Given the description of an element on the screen output the (x, y) to click on. 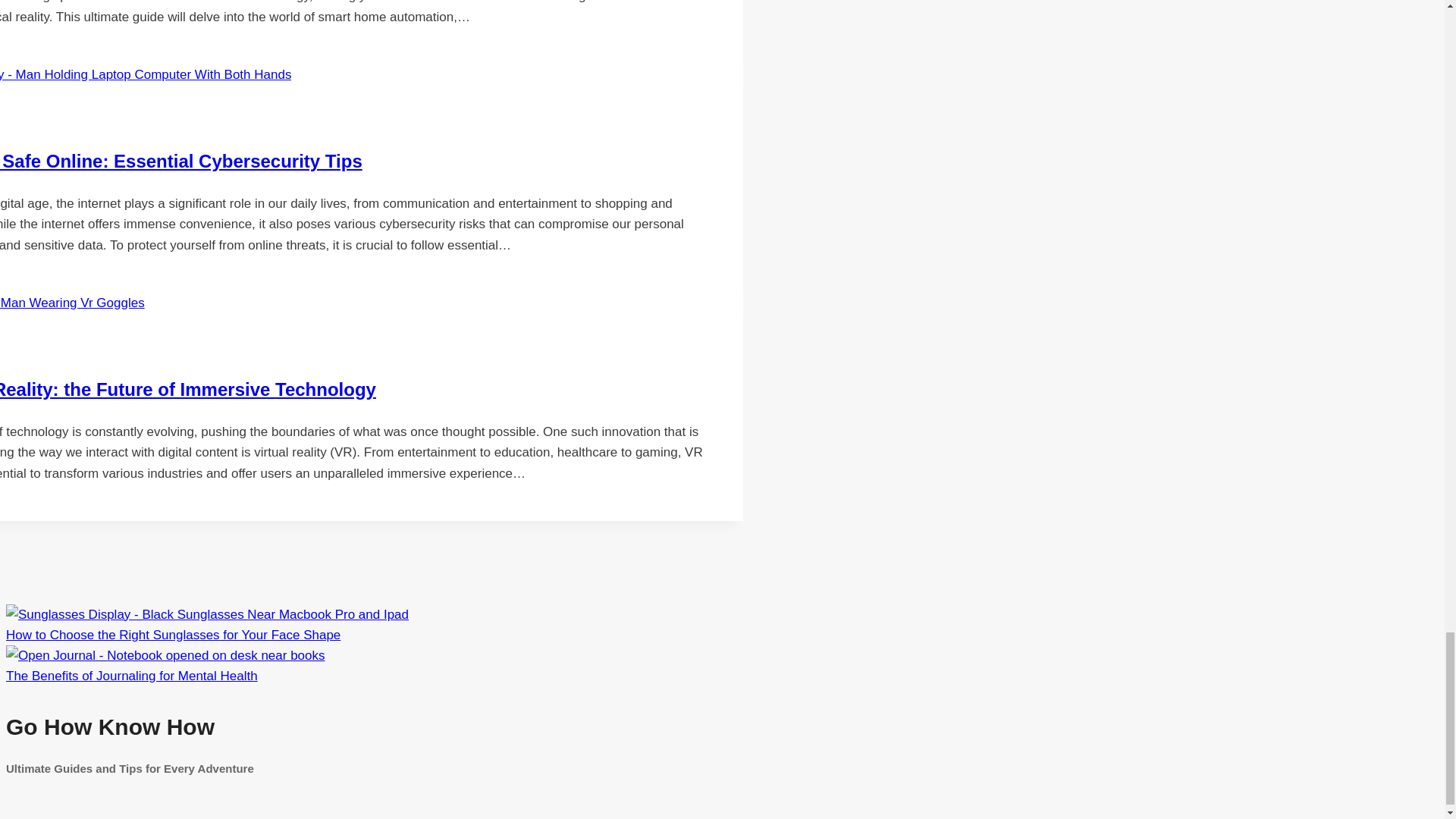
How to Choose the Right Sunglasses for Your Face Shape (172, 635)
Staying Safe Online: Essential Cybersecurity Tips (181, 160)
Virtual Reality: the Future of Immersive Technology (187, 389)
How to Choose the Right Sunglasses for Your Face Shape (207, 614)
The Benefits of Journaling for Mental Health (164, 655)
The Benefits of Journaling for Mental Health (131, 676)
